Given the description of an element on the screen output the (x, y) to click on. 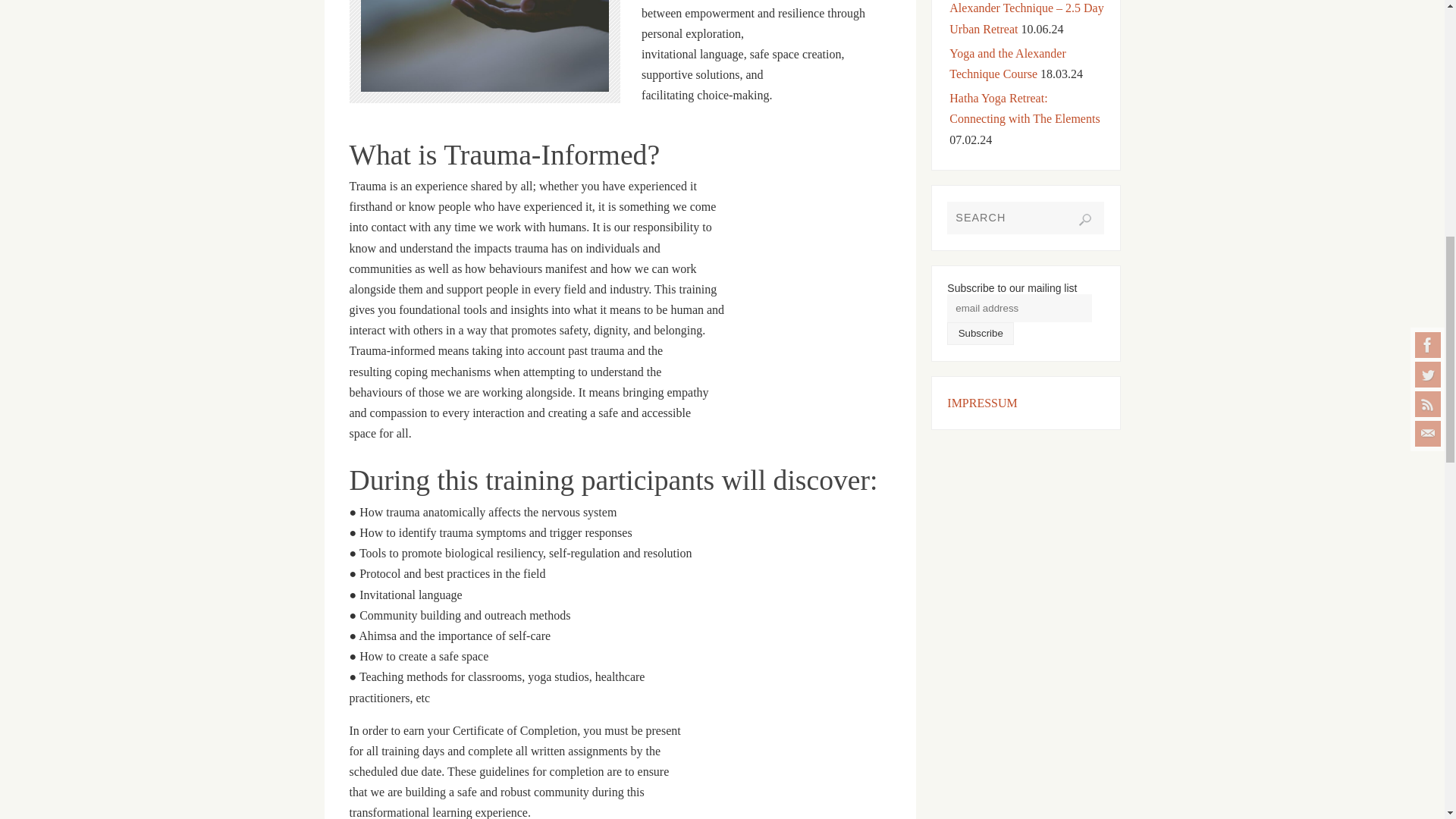
Subscribe (980, 332)
